Given the description of an element on the screen output the (x, y) to click on. 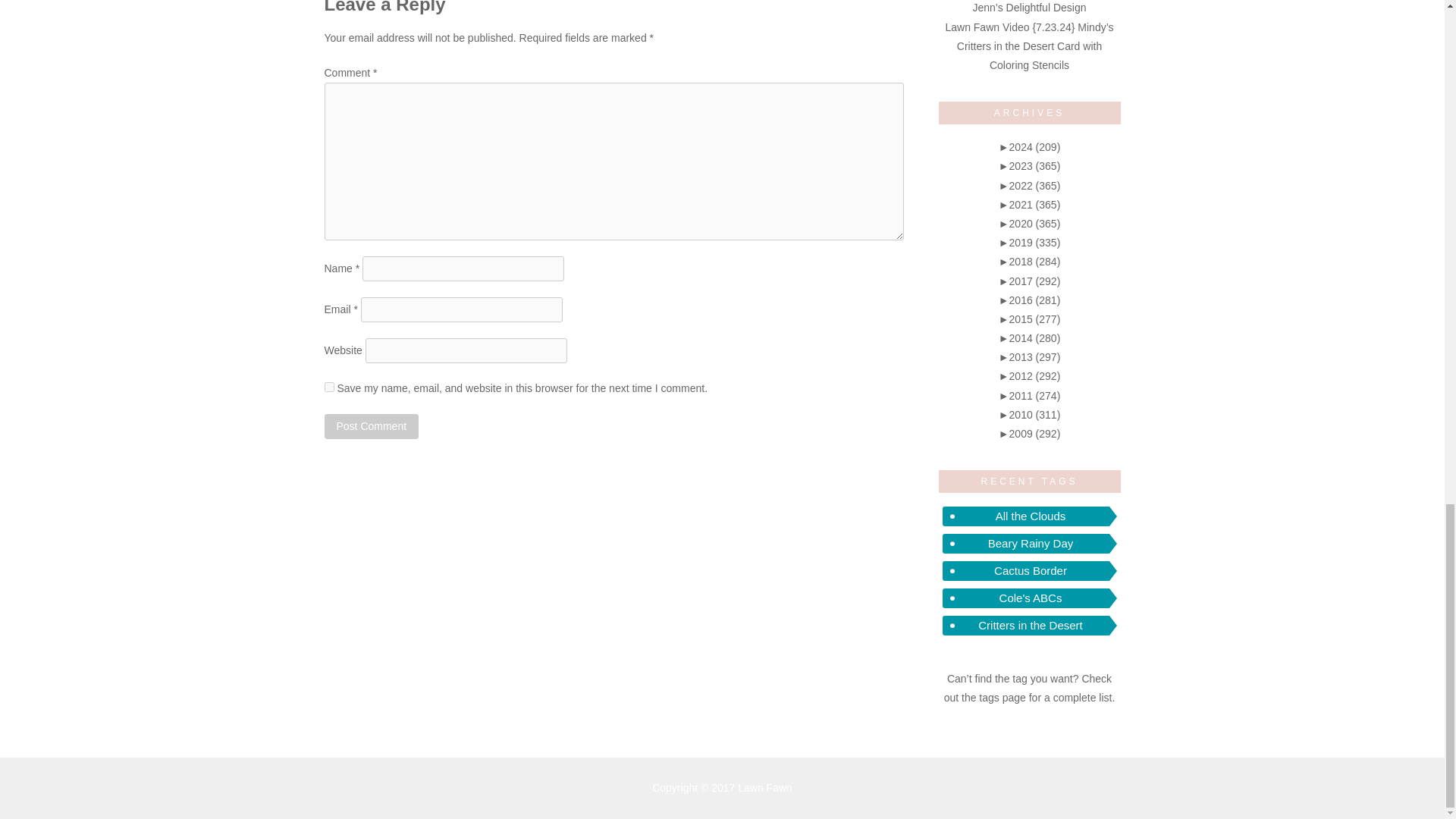
Post Comment (371, 426)
yes (329, 387)
click to expand (1029, 146)
Post Comment (371, 426)
